Given the description of an element on the screen output the (x, y) to click on. 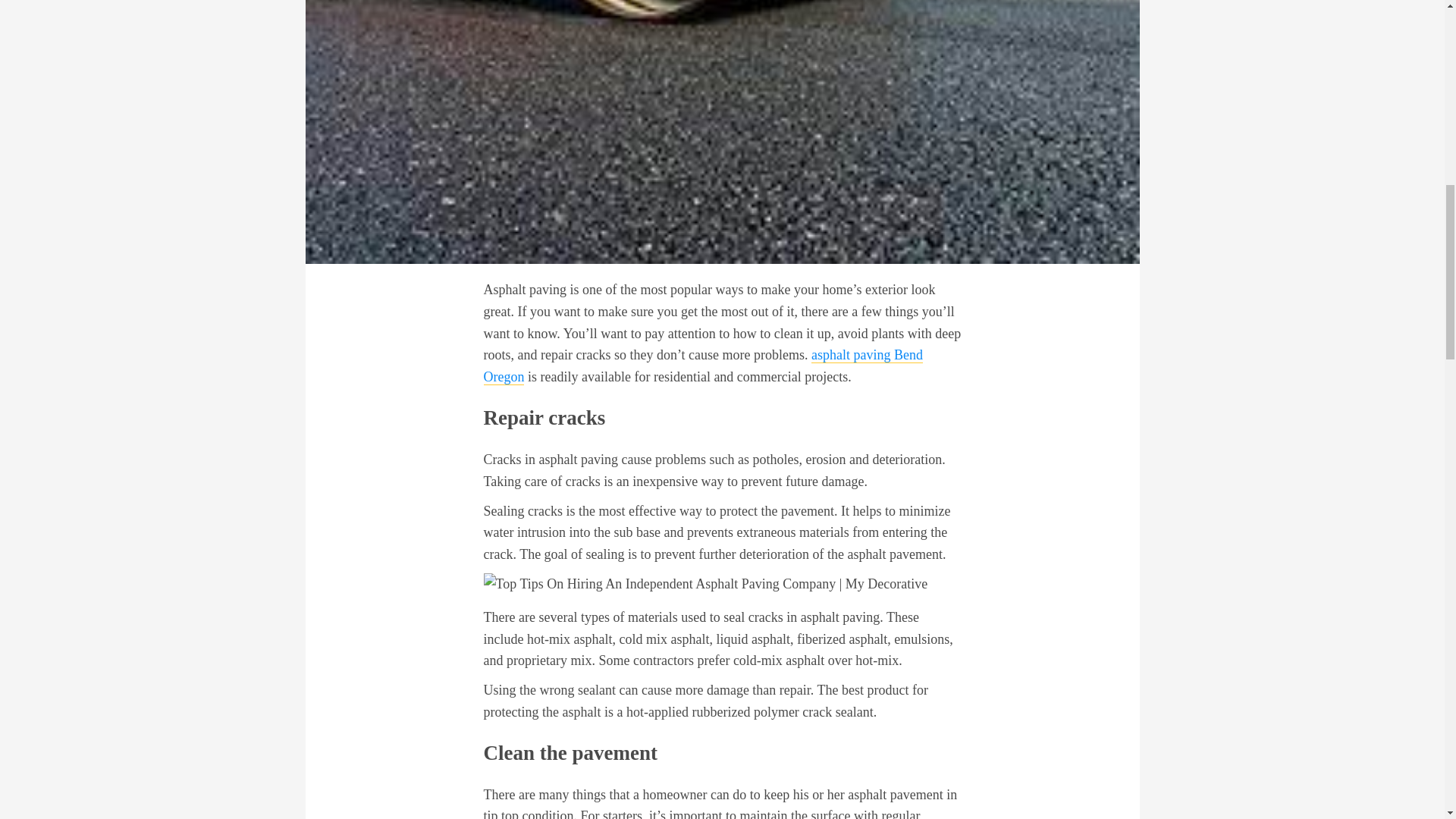
asphalt paving Bend Oregon (703, 365)
